Given the description of an element on the screen output the (x, y) to click on. 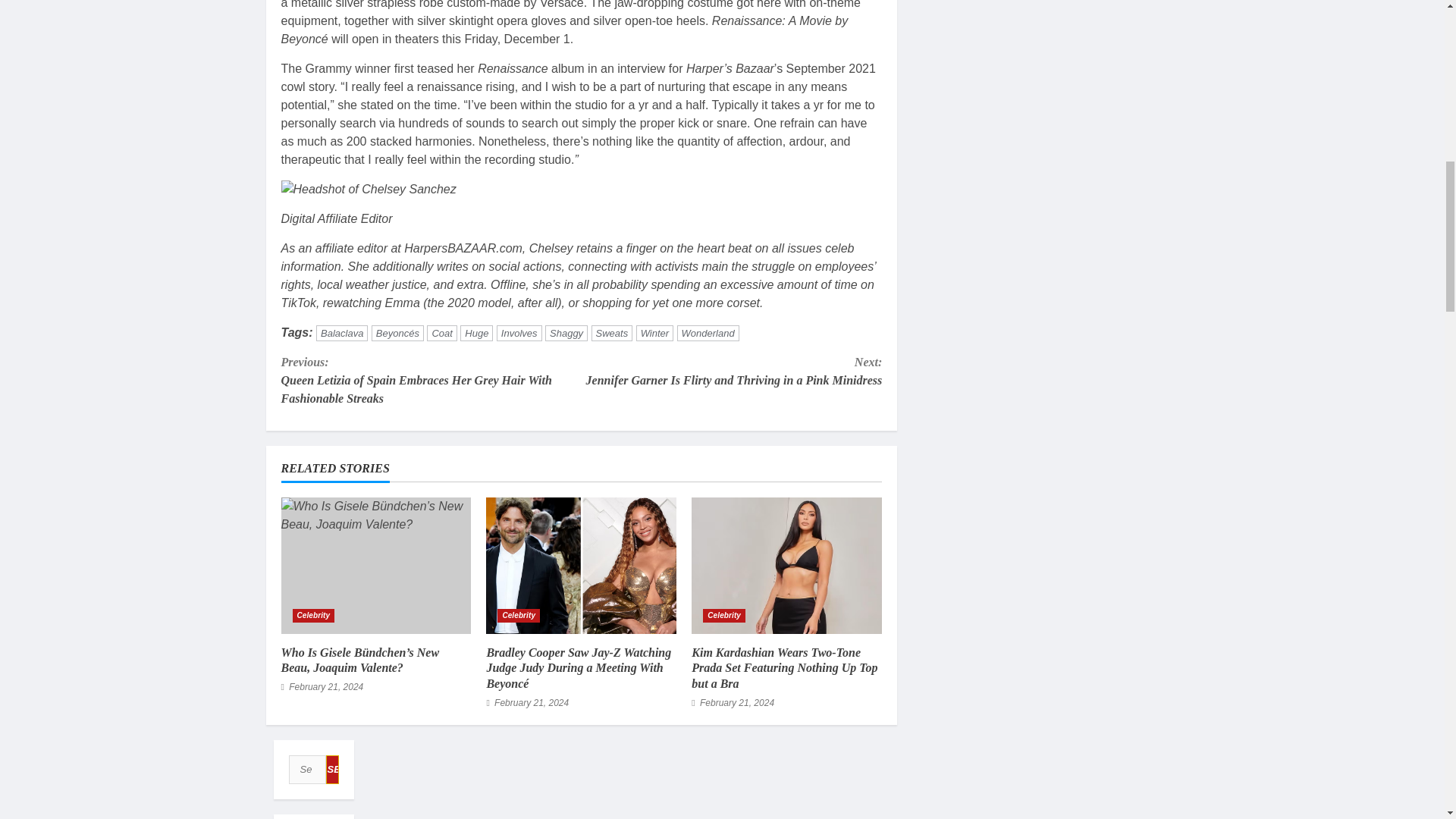
Coat (441, 333)
Celebrity (518, 615)
Winter (654, 333)
Headshot of Chelsey Sanchez (368, 189)
Balaclava (341, 333)
Involves (518, 333)
Huge (476, 333)
Celebrity (313, 615)
